Given the description of an element on the screen output the (x, y) to click on. 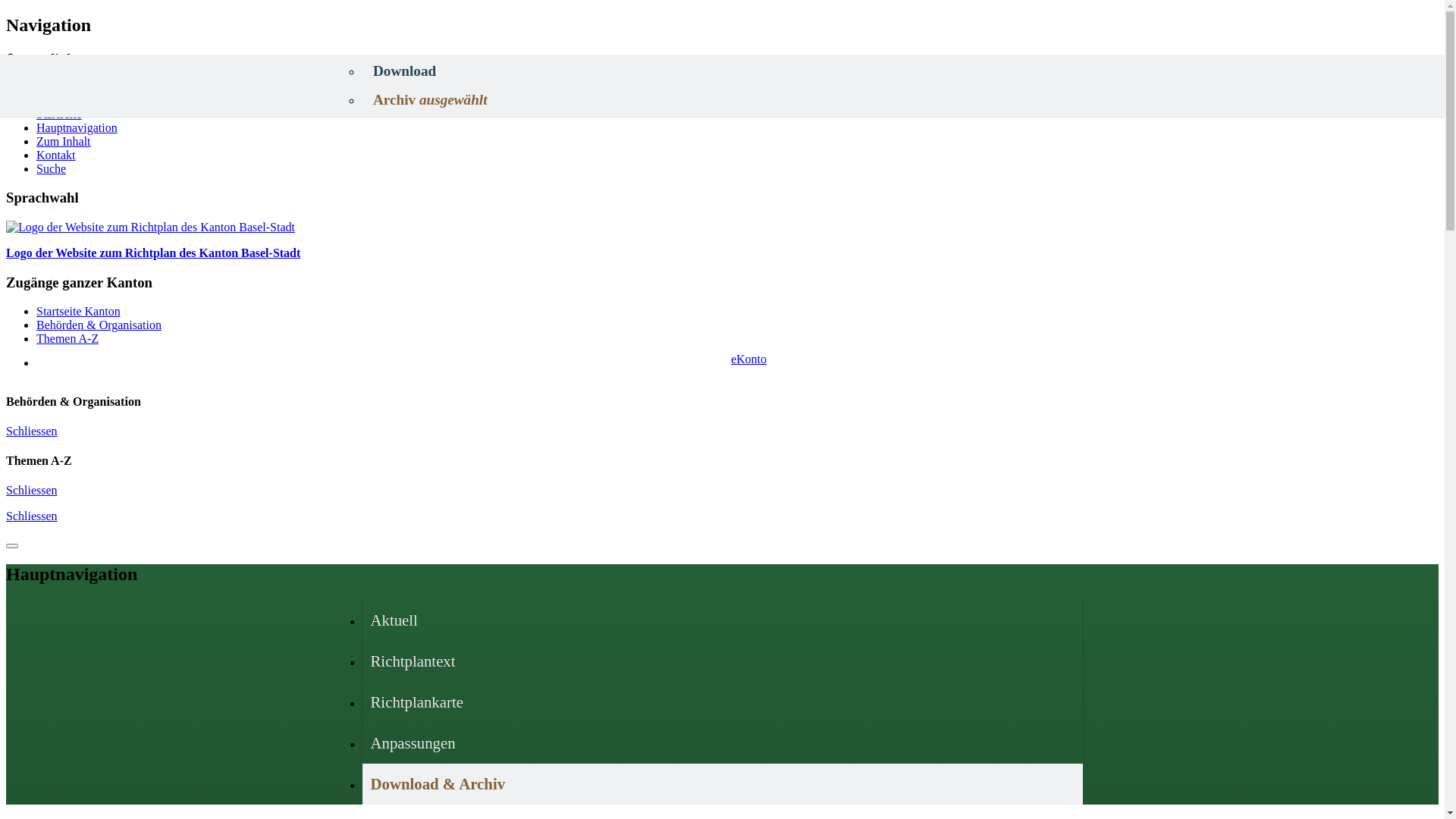
Download & Archiv Element type: text (722, 783)
Schliessen Element type: text (31, 515)
Kontakt Element type: text (55, 154)
Startseite Element type: text (58, 113)
Hauptnavigation Element type: text (76, 127)
Schliessen Element type: text (31, 489)
Download Element type: text (720, 70)
Richtplantext Element type: text (722, 660)
Logo der Website zum Richtplan des Kanton Basel-Stadt Element type: text (722, 240)
Suche Element type: text (50, 168)
Startseite Kanton Element type: text (78, 310)
Zum Inhalt Element type: text (63, 140)
Anpassungen Element type: text (722, 742)
Aktuell Element type: text (722, 619)
Richtplankarte Element type: text (722, 701)
eKonto Element type: text (737, 361)
Themen A-Z Element type: text (67, 338)
Schliessen Element type: text (31, 430)
